Given the description of an element on the screen output the (x, y) to click on. 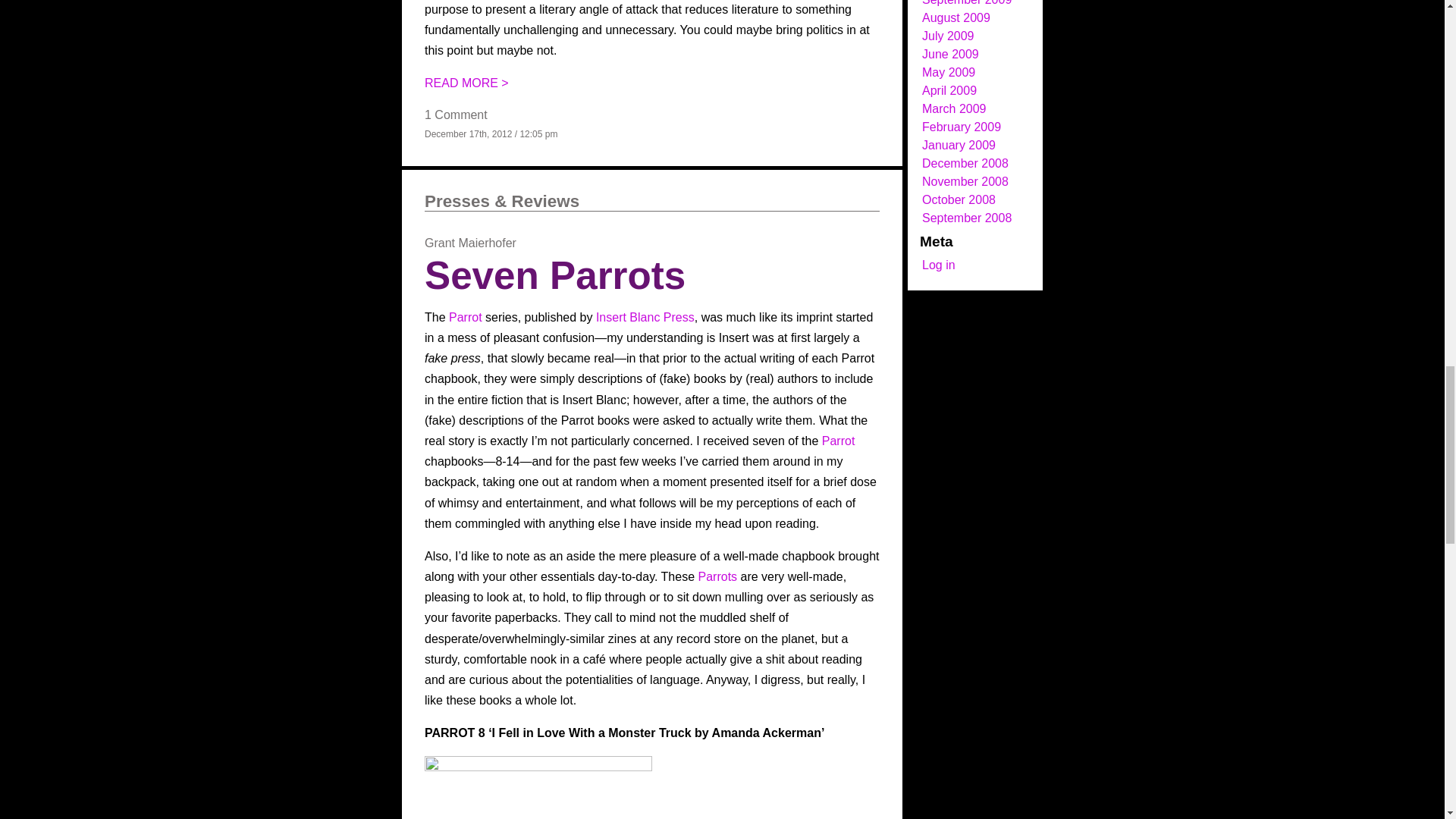
Parrot (464, 317)
Seven Parrots (555, 275)
Posts by Grant Maierhofer (470, 242)
Insert Blanc Press (644, 317)
Presses (457, 200)
Permanent Link to Seven Parrots (555, 275)
1 Comment (456, 114)
Parrots (716, 576)
Parrot (839, 440)
Reviews (545, 200)
